Given the description of an element on the screen output the (x, y) to click on. 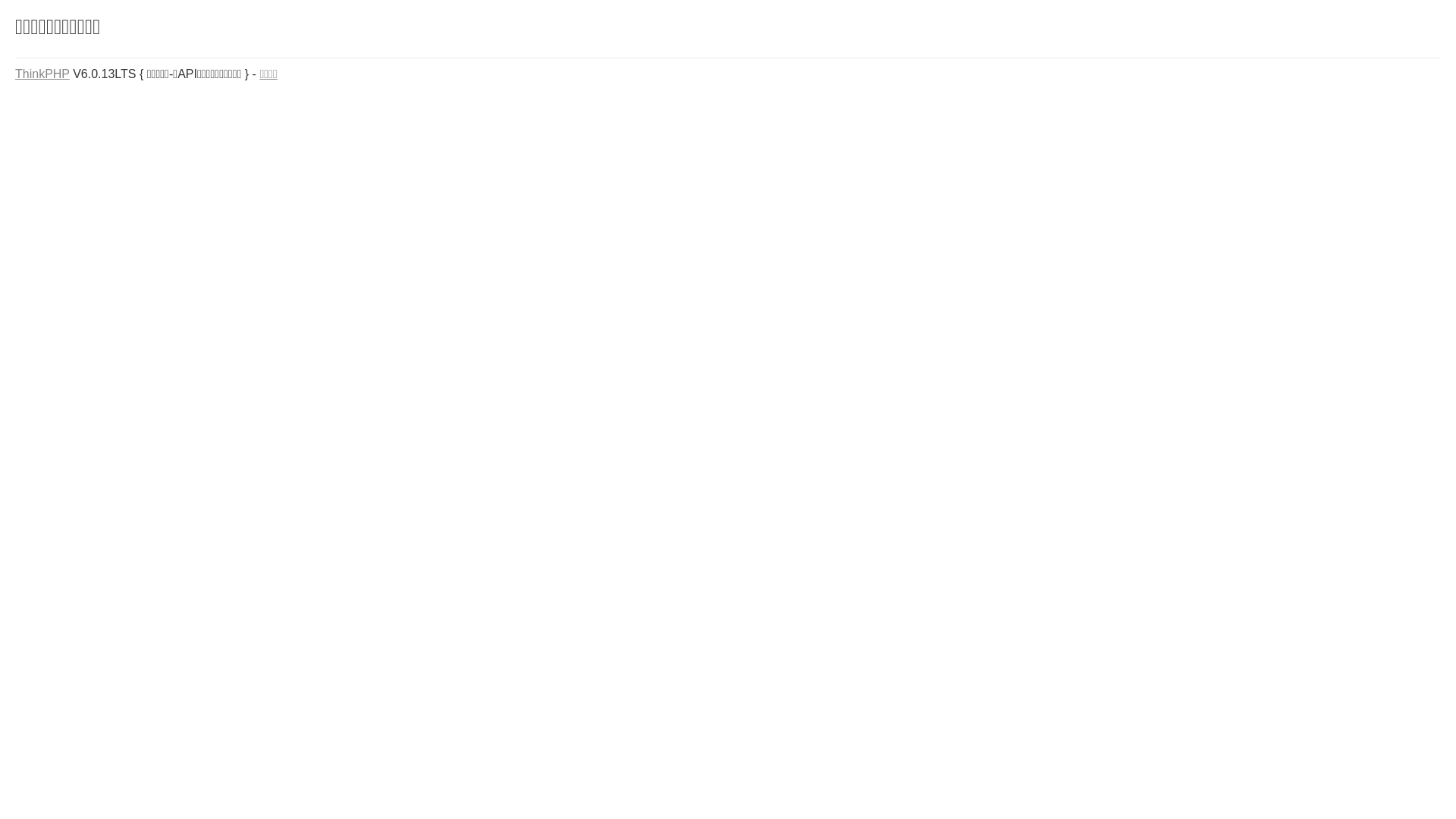
ThinkPHP Element type: text (42, 73)
